Given the description of an element on the screen output the (x, y) to click on. 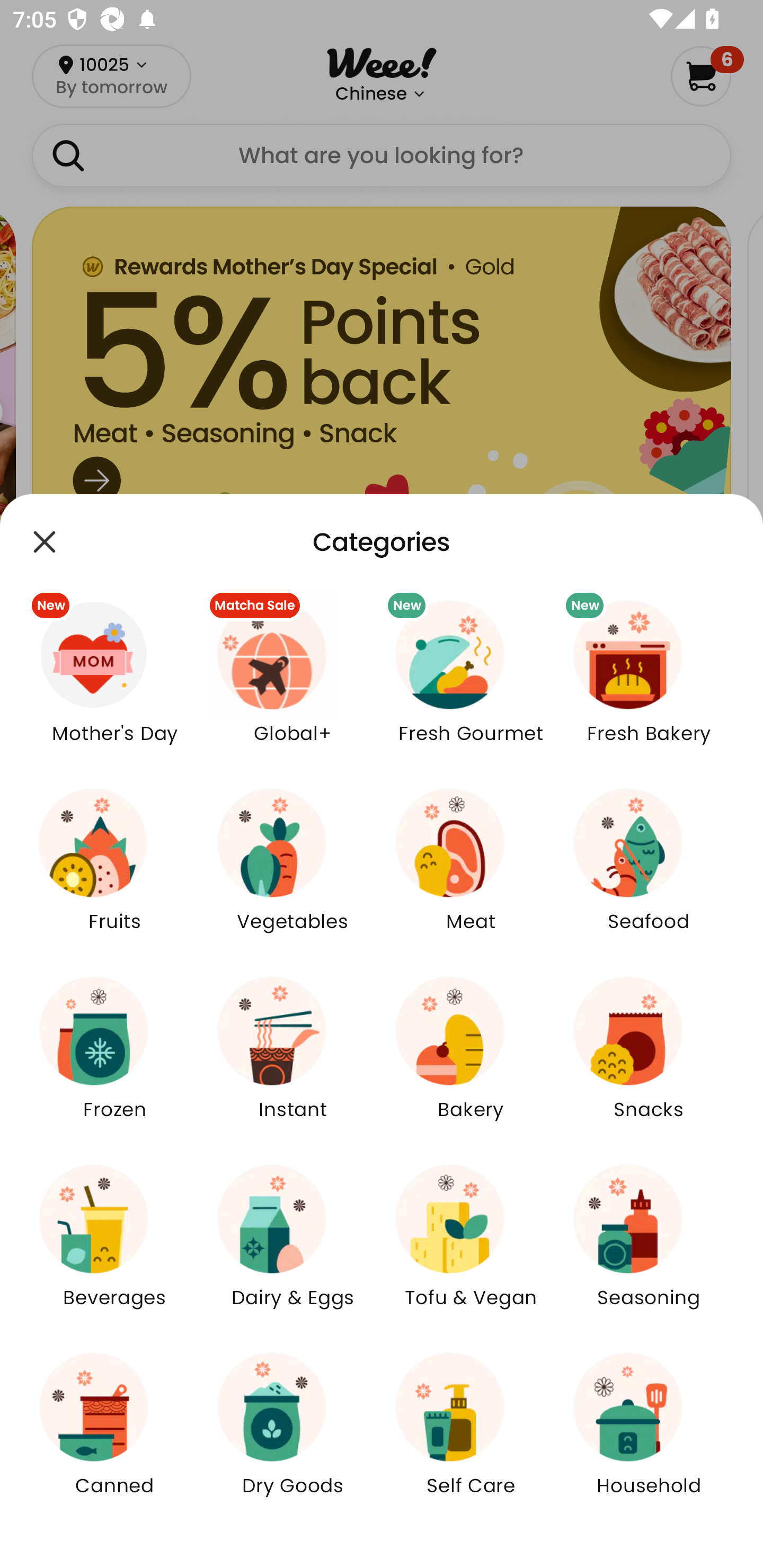
New Mother's Day (114, 683)
Matcha Sale Global+ (292, 683)
New Fresh Gourmet (470, 683)
New Fresh Bakery (648, 683)
Fruits (114, 871)
Vegetables (292, 871)
Meat (470, 871)
Seafood (648, 871)
Frozen (114, 1059)
Instant (292, 1059)
Bakery (470, 1059)
Snacks (648, 1059)
Beverages (114, 1248)
Dairy & Eggs (292, 1248)
Tofu & Vegan (470, 1248)
Seasoning (648, 1248)
Canned (114, 1436)
Dry Goods (292, 1436)
Self Care (470, 1436)
Household (648, 1436)
